Given the description of an element on the screen output the (x, y) to click on. 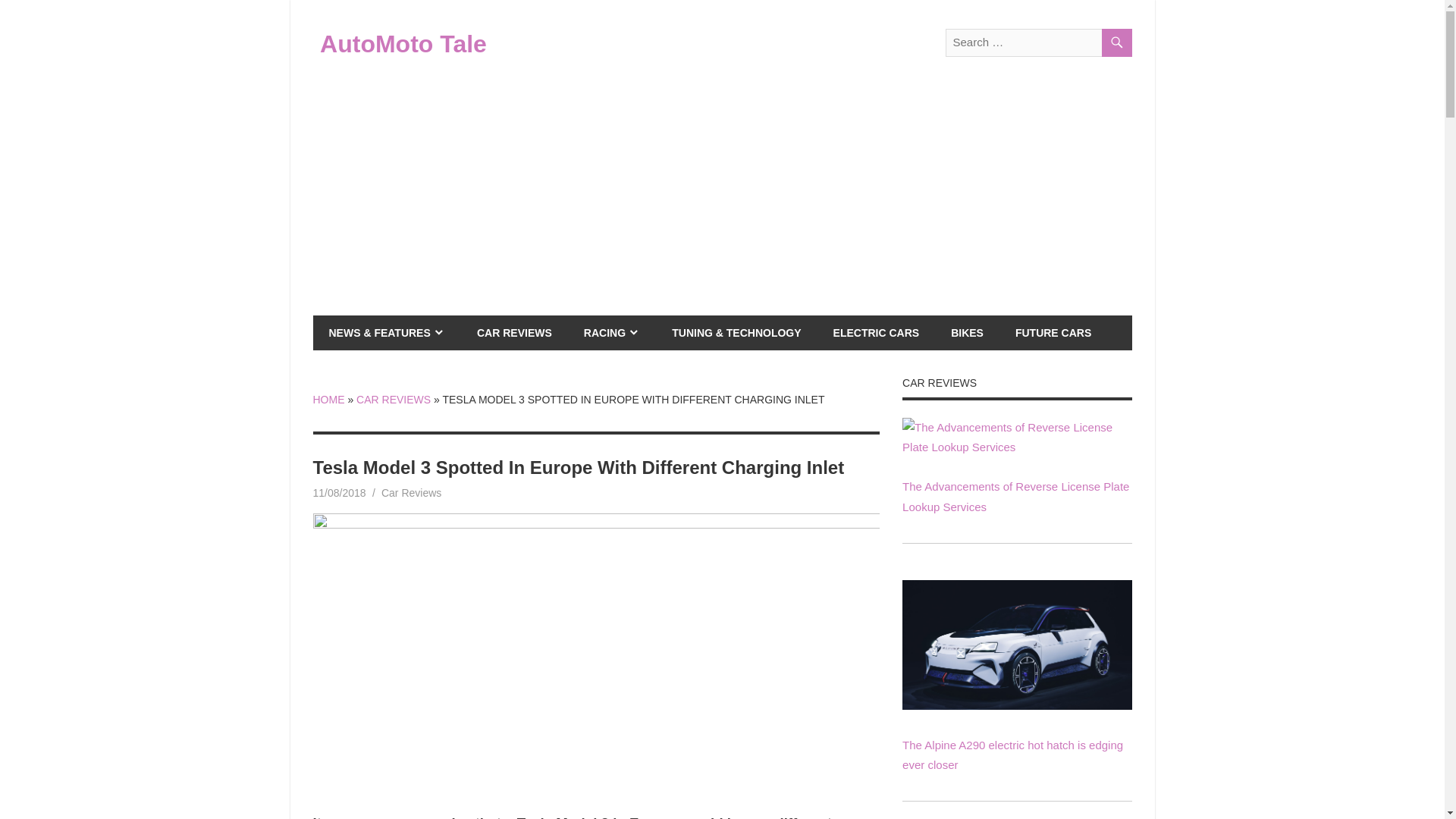
HOME (328, 399)
FUTURE CARS (1052, 332)
The Alpine A290 electric hot hatch is edging ever closer (1016, 705)
AutoMoto Tale (403, 43)
CAR REVIEWS (514, 332)
15:34 (339, 492)
RACING (611, 332)
CAR REVIEWS (393, 399)
Car Reviews (411, 492)
View all posts by mediabest (403, 492)
The Alpine A290 electric hot hatch is edging ever closer (1016, 644)
The Advancements of Reverse License Plate Lookup Services (1015, 495)
mediabest (403, 492)
The Advancements of Reverse License Plate Lookup Services (1016, 446)
BIKES (966, 332)
